Given the description of an element on the screen output the (x, y) to click on. 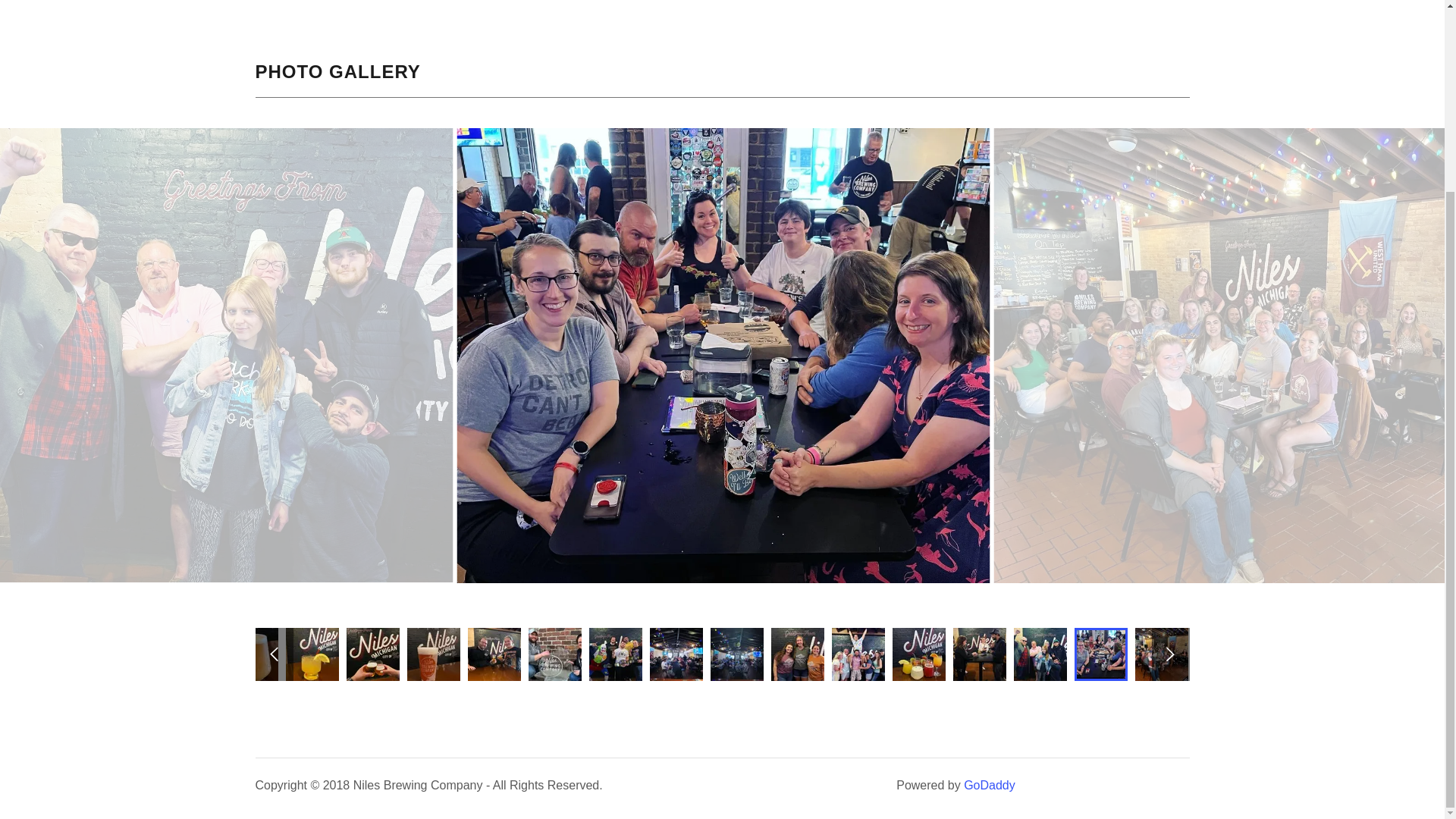
GoDaddy (988, 784)
